Given the description of an element on the screen output the (x, y) to click on. 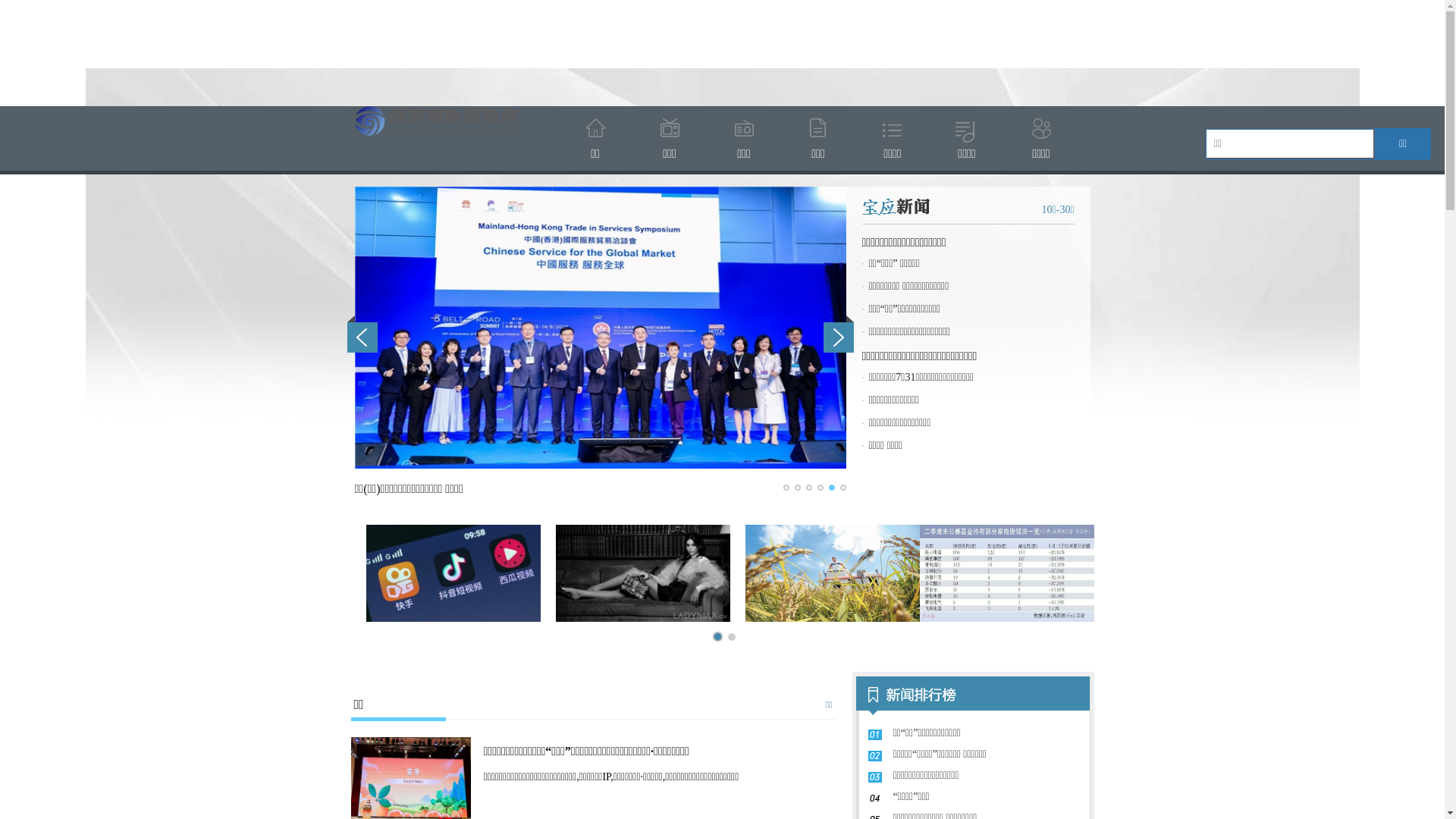
4 Element type: text (820, 487)
5 Element type: text (831, 487)
6 Element type: text (843, 487)
3 Element type: text (808, 487)
2 Element type: text (797, 487)
1 Element type: text (785, 487)
